Given the description of an element on the screen output the (x, y) to click on. 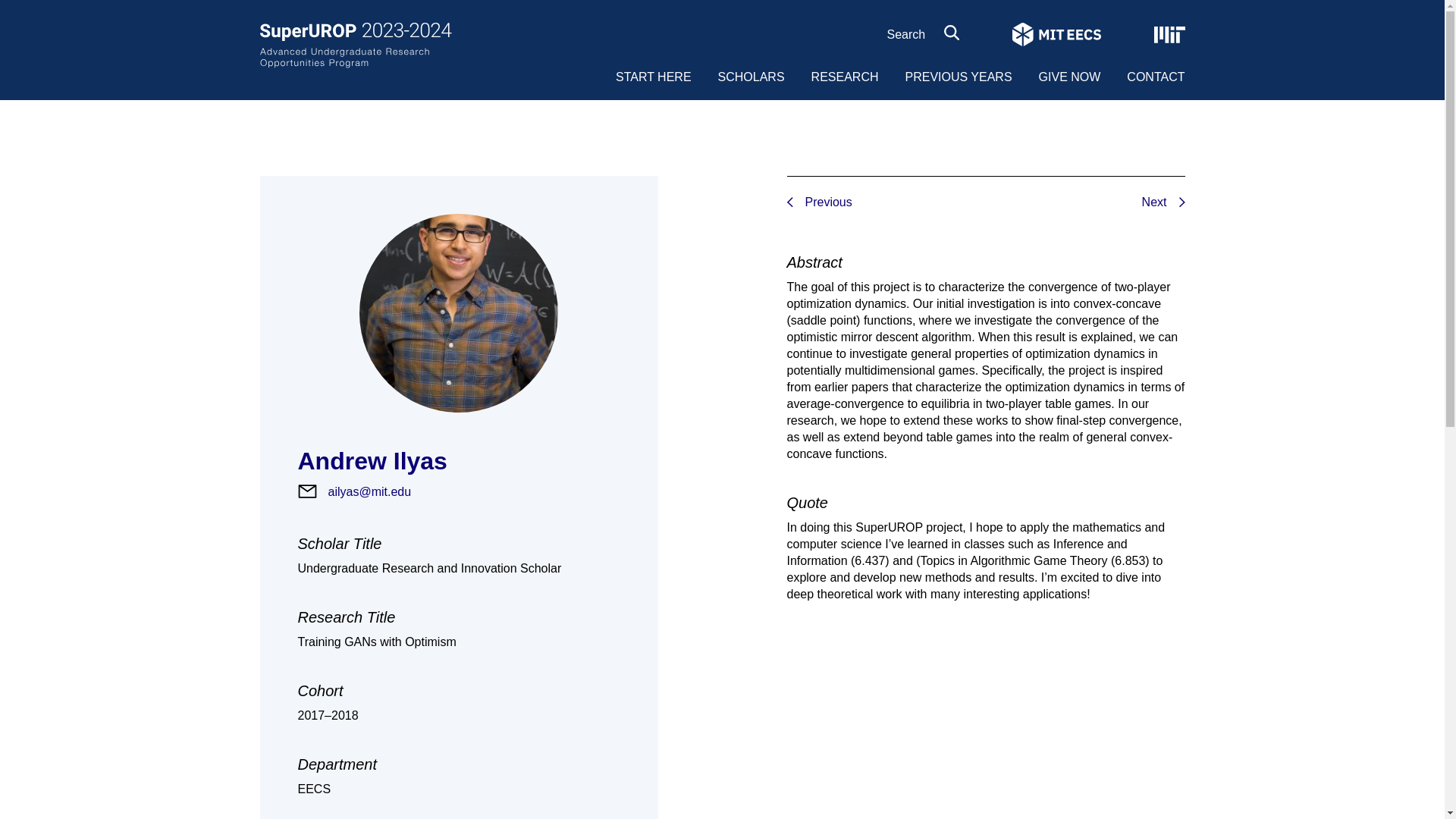
GIVE NOW (1069, 76)
PREVIOUS YEARS (957, 76)
CONTACT (1155, 76)
START HERE (653, 76)
Previous (1217, 202)
SCHOLARS (750, 76)
RESEARCH (844, 76)
